Given the description of an element on the screen output the (x, y) to click on. 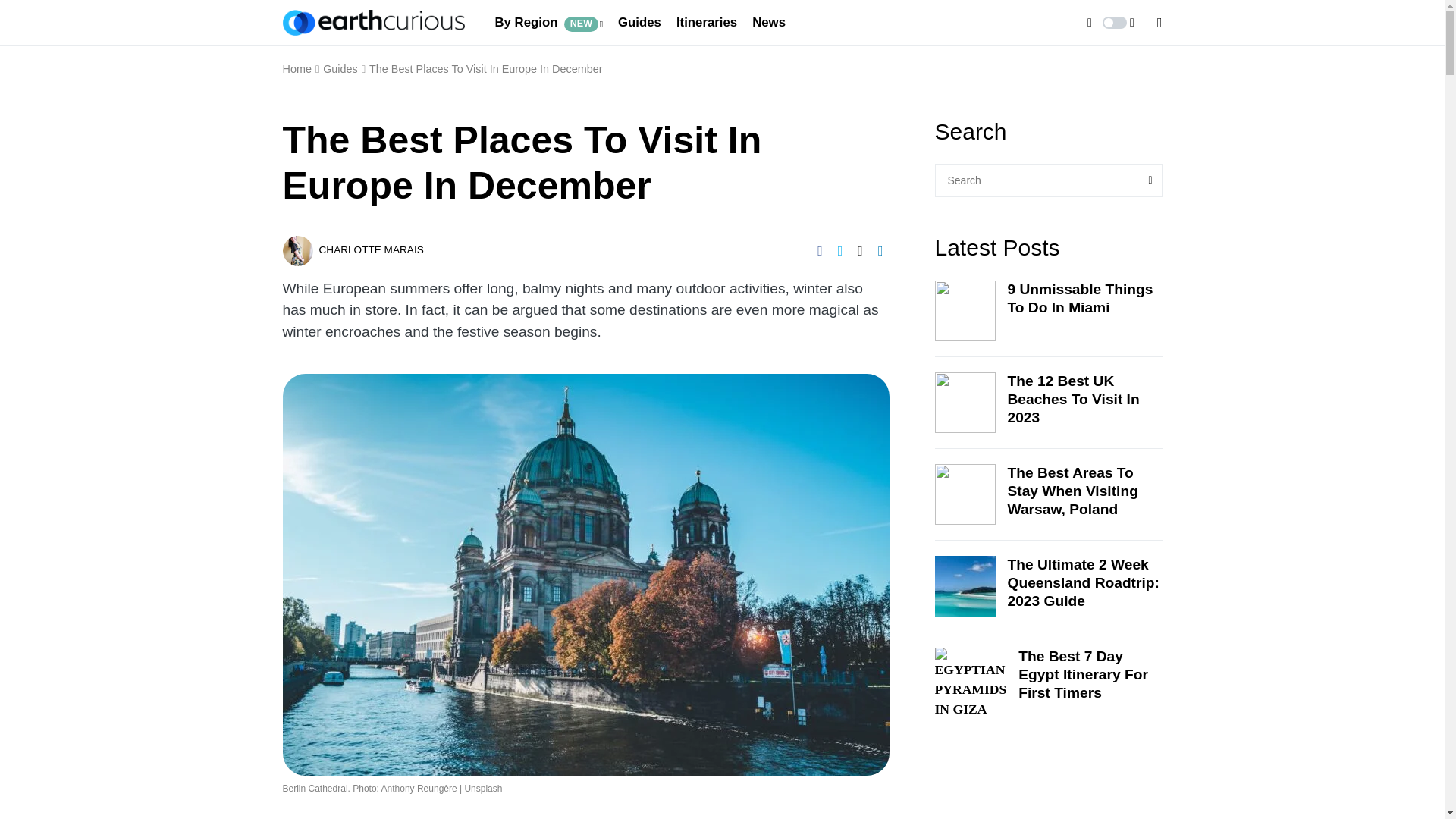
Guides (639, 22)
By Region NEW (548, 22)
Itineraries (706, 22)
